Given the description of an element on the screen output the (x, y) to click on. 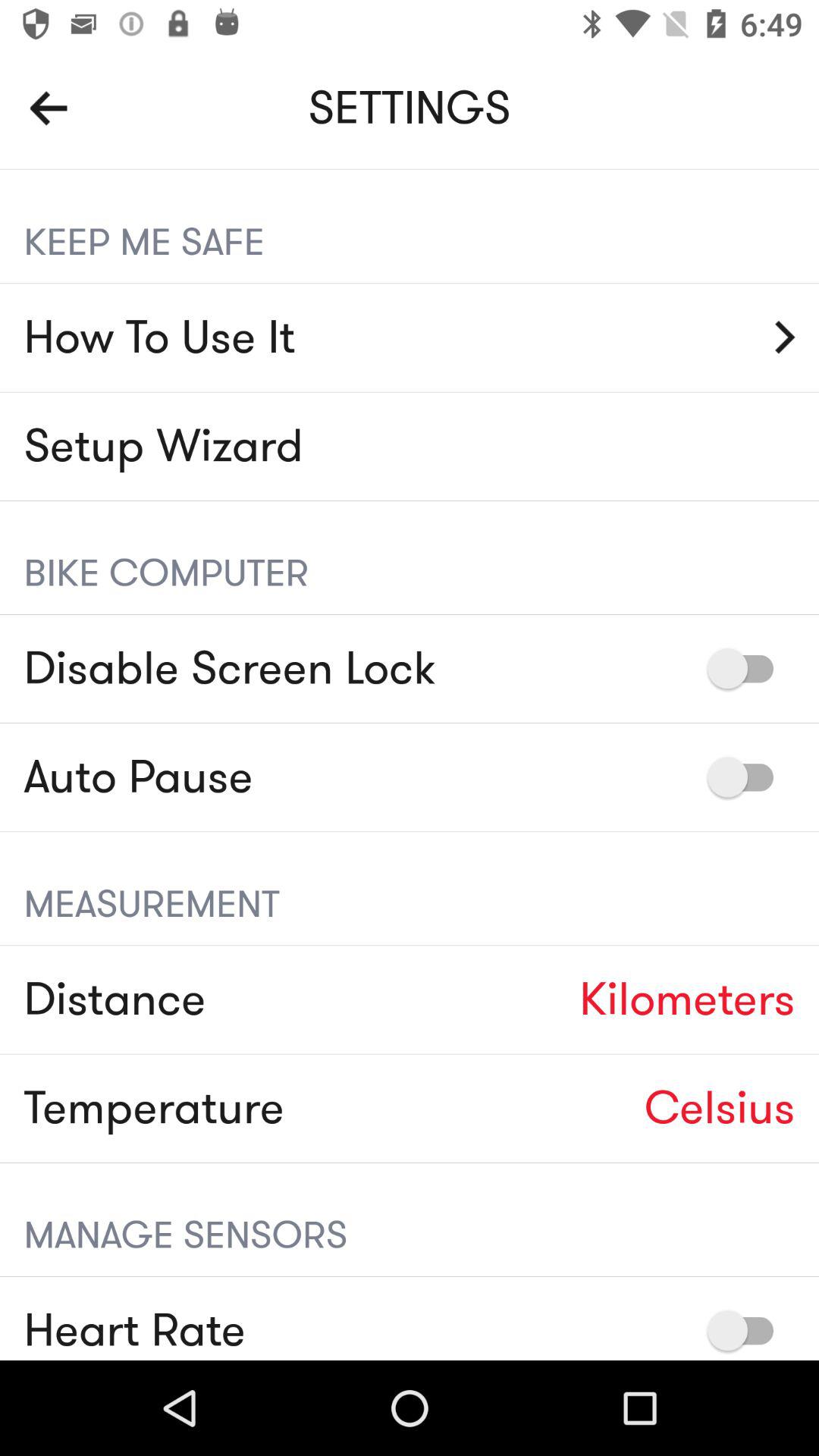
choose the item to the left of settings (48, 108)
